Given the description of an element on the screen output the (x, y) to click on. 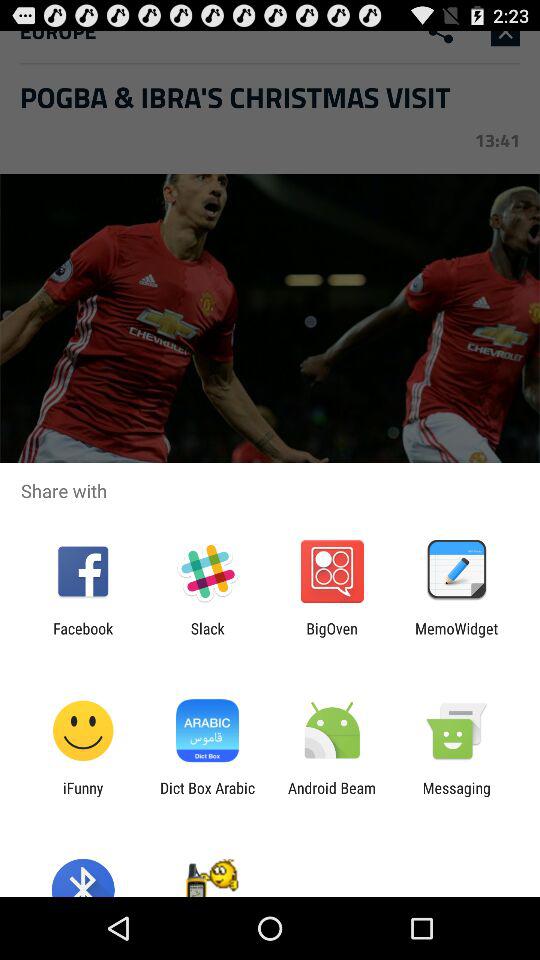
select facebook app (83, 637)
